Given the description of an element on the screen output the (x, y) to click on. 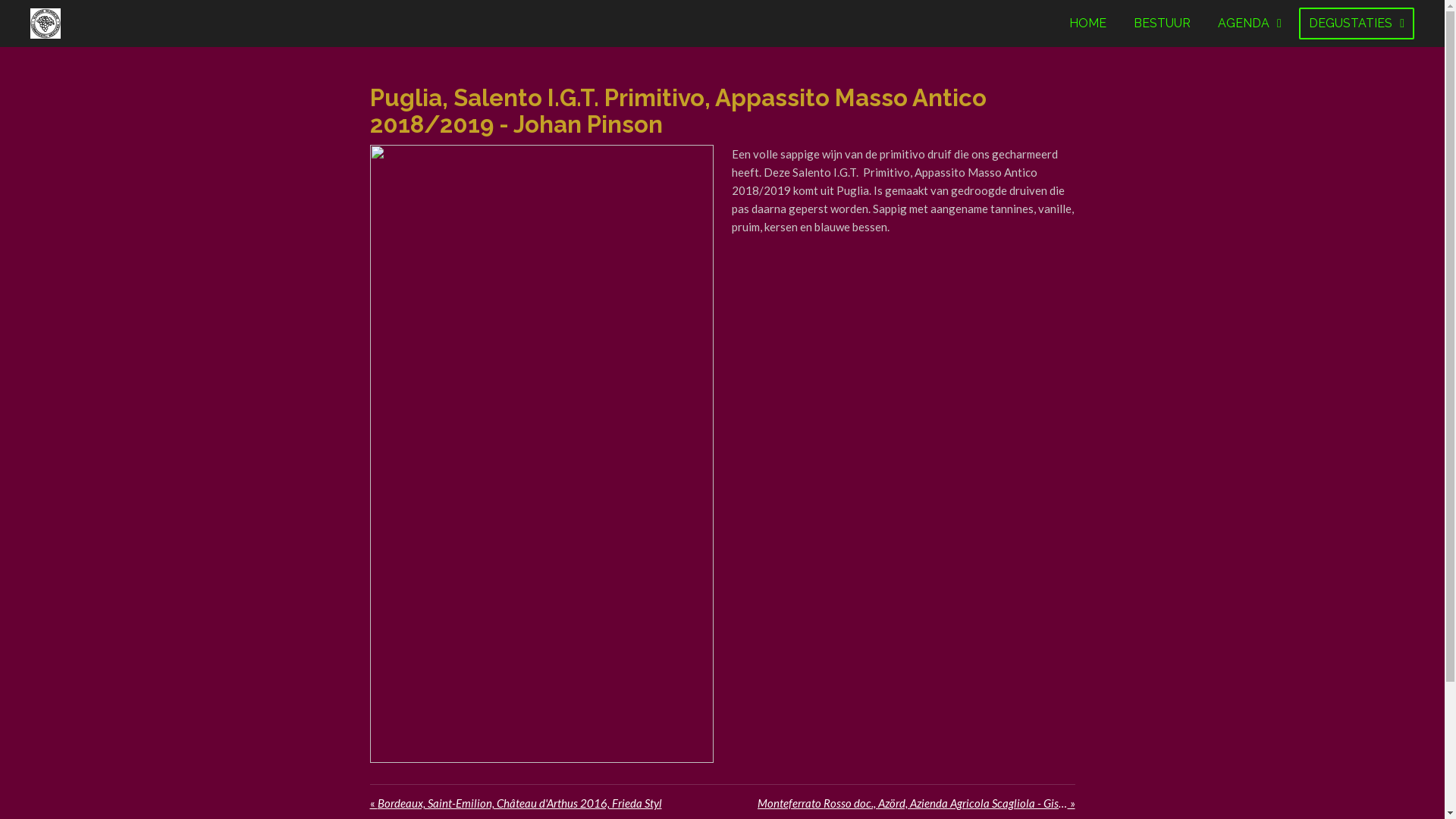
DEGUSTATIES Element type: text (1356, 23)
HOME Element type: text (1087, 23)
BESTUUR Element type: text (1161, 23)
AGENDA Element type: text (1249, 23)
Commanderij Westhoek Element type: hover (45, 23)
